Given the description of an element on the screen output the (x, y) to click on. 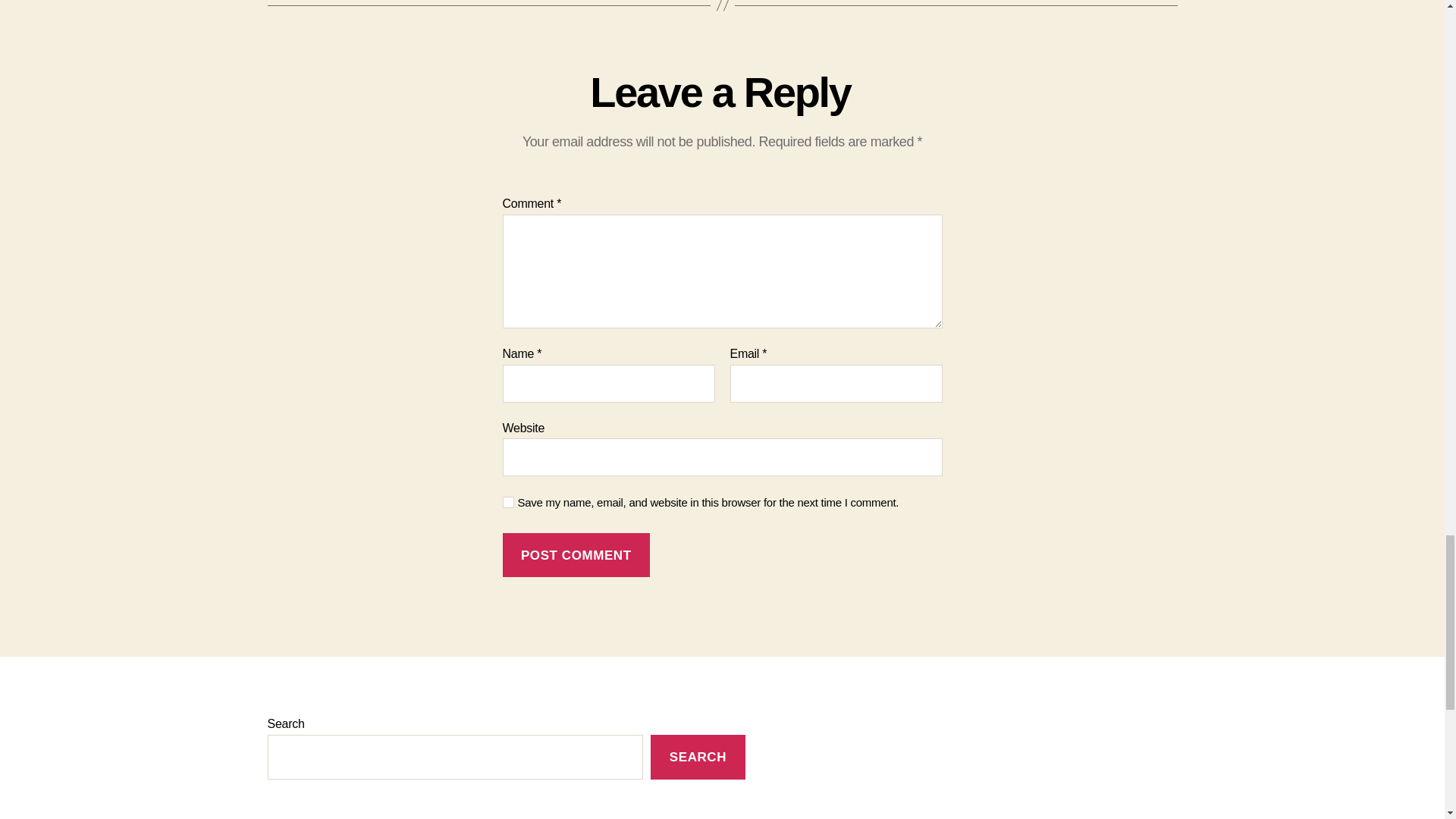
Post Comment (575, 555)
Post Comment (575, 555)
SEARCH (697, 756)
yes (507, 501)
